Given the description of an element on the screen output the (x, y) to click on. 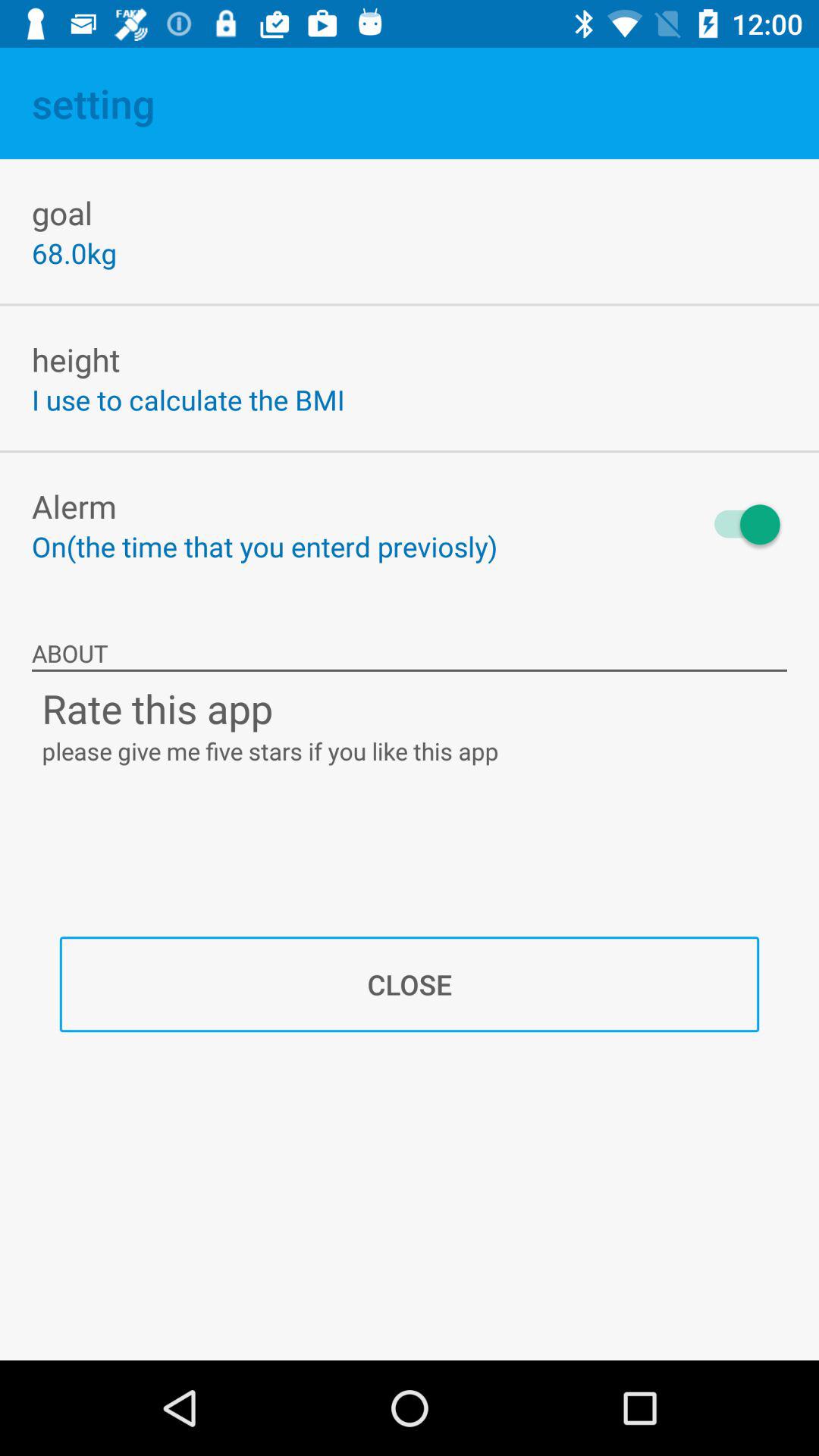
jump to the height icon (75, 359)
